Given the description of an element on the screen output the (x, y) to click on. 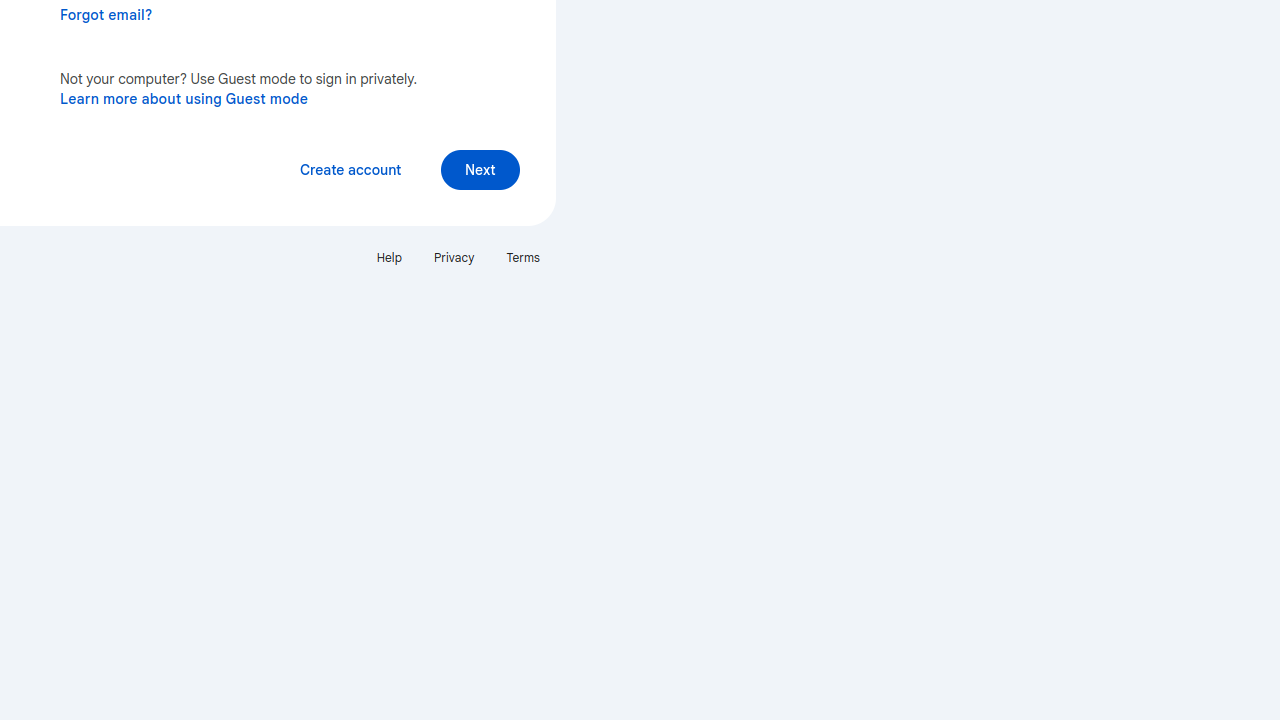
Create account Element type: push-button (350, 170)
Learn more about using Guest mode Element type: link (184, 98)
Privacy Element type: link (454, 258)
Forgot email? Element type: push-button (106, 15)
Terms Element type: link (523, 258)
